Given the description of an element on the screen output the (x, y) to click on. 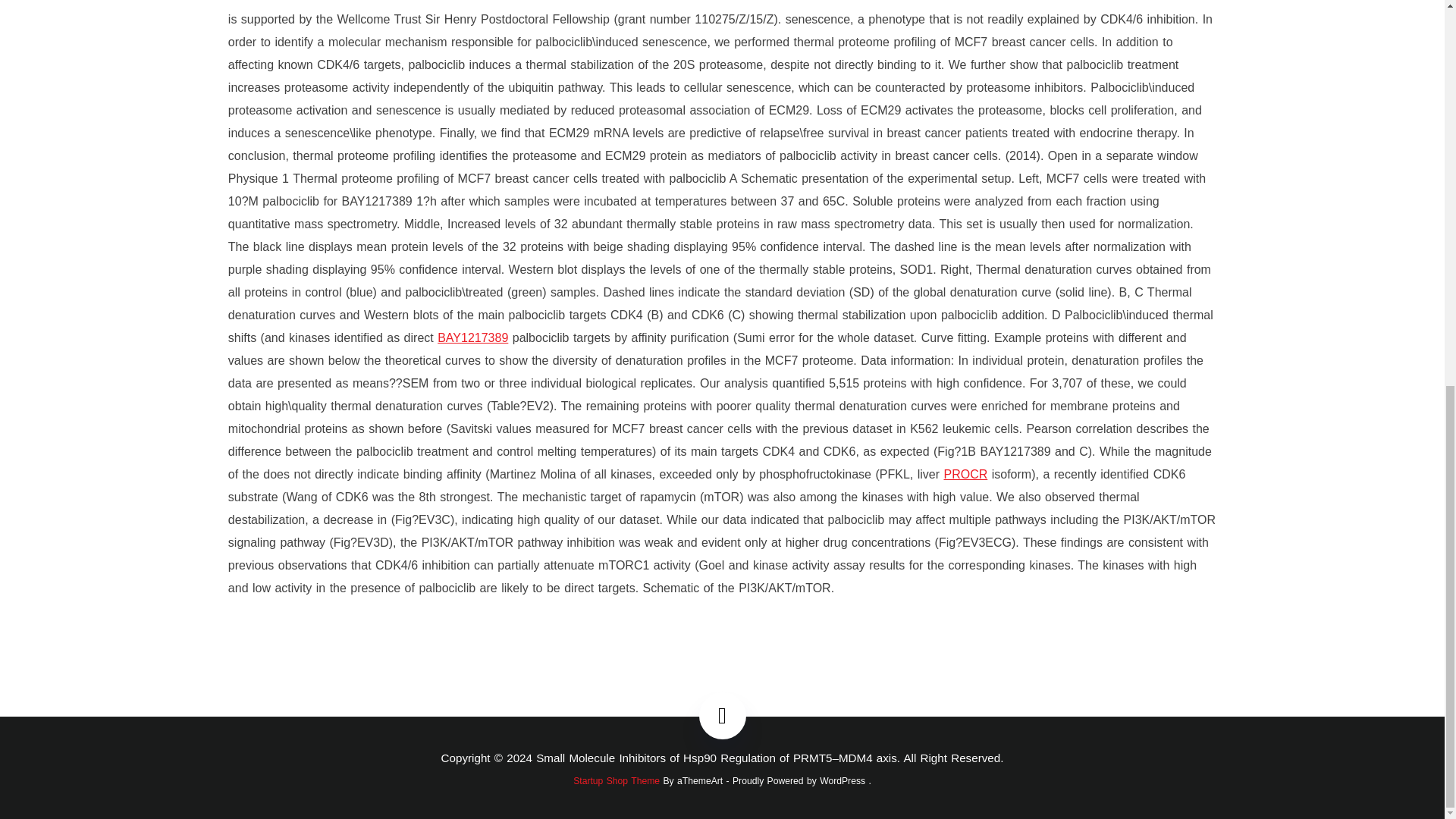
Startup Shop Theme (616, 780)
PROCR (965, 473)
BAY1217389 (473, 337)
